Given the description of an element on the screen output the (x, y) to click on. 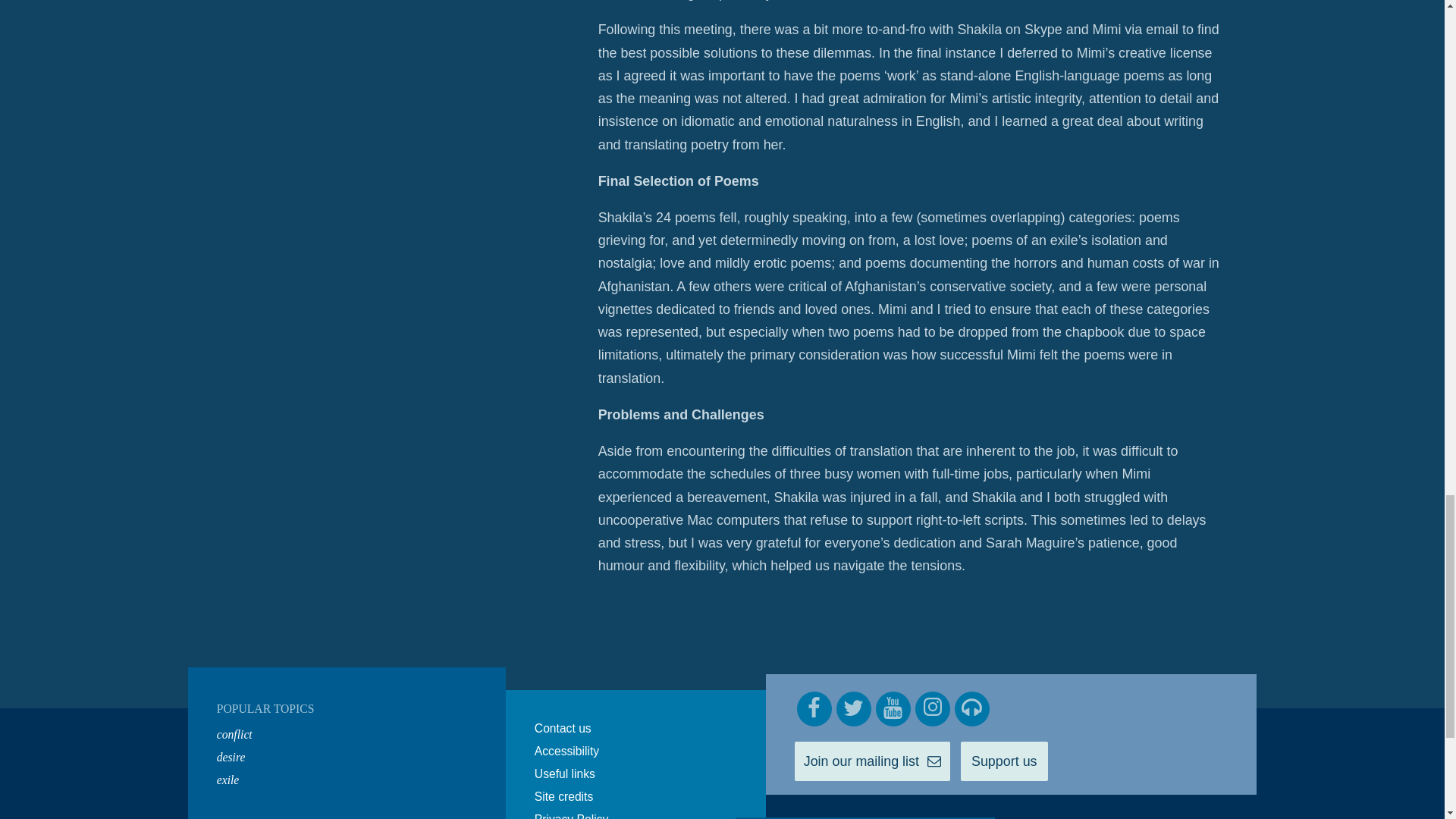
twitter (852, 708)
youTube (893, 708)
Instagram (932, 708)
iTunes (972, 708)
facebook (813, 708)
